Given the description of an element on the screen output the (x, y) to click on. 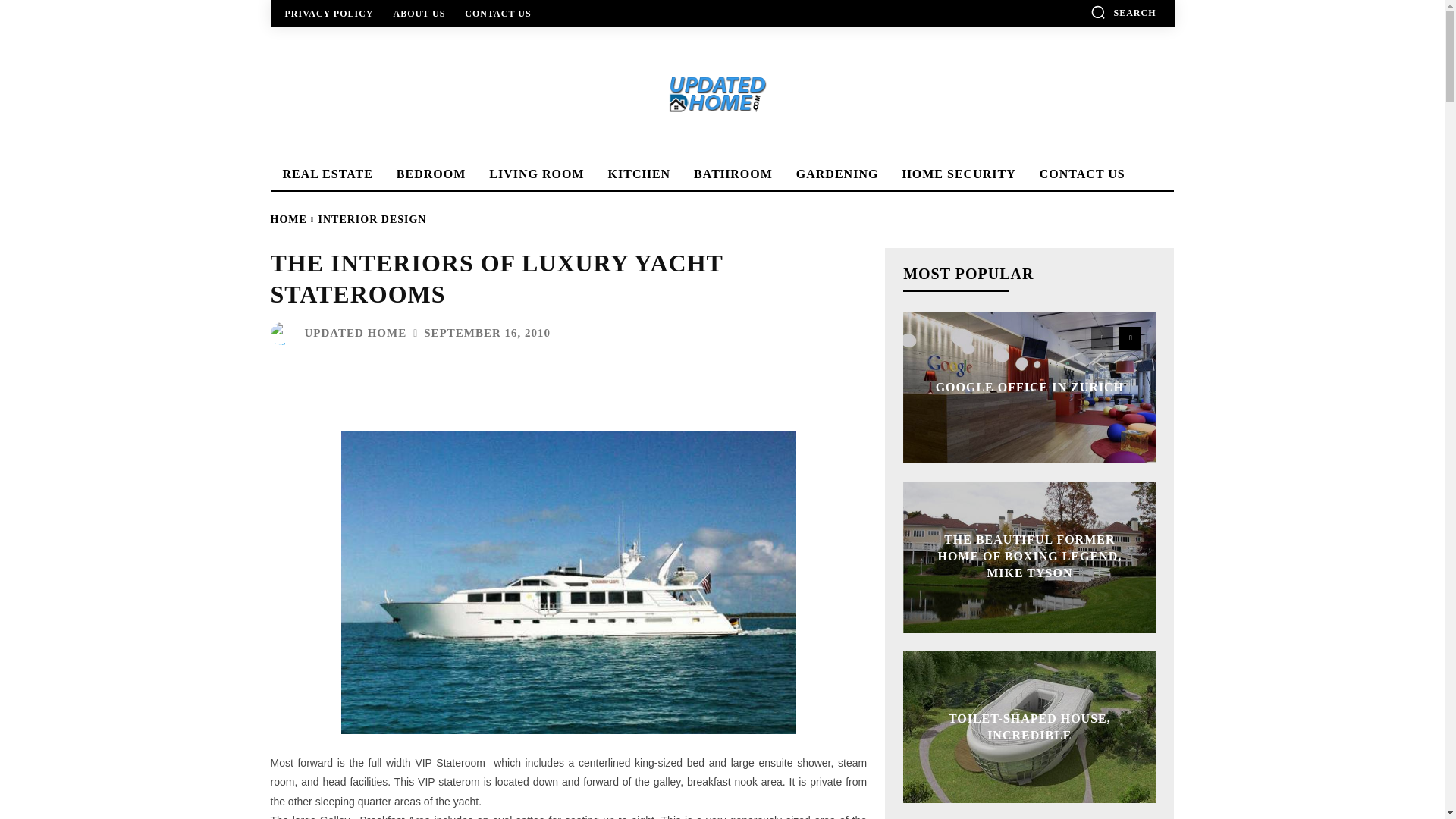
CONTACT US (1079, 174)
HOME SECURITY (956, 174)
LIVING ROOM (534, 174)
KITCHEN (636, 174)
ABOUT US (418, 13)
BATHROOM (730, 174)
REAL ESTATE (324, 174)
INTERIOR DESIGN (372, 219)
BEDROOM (428, 174)
View all posts in Interior Design (372, 219)
HOME (287, 219)
GARDENING (835, 174)
PRIVACY POLICY (329, 13)
SEARCH (1123, 11)
